Given the description of an element on the screen output the (x, y) to click on. 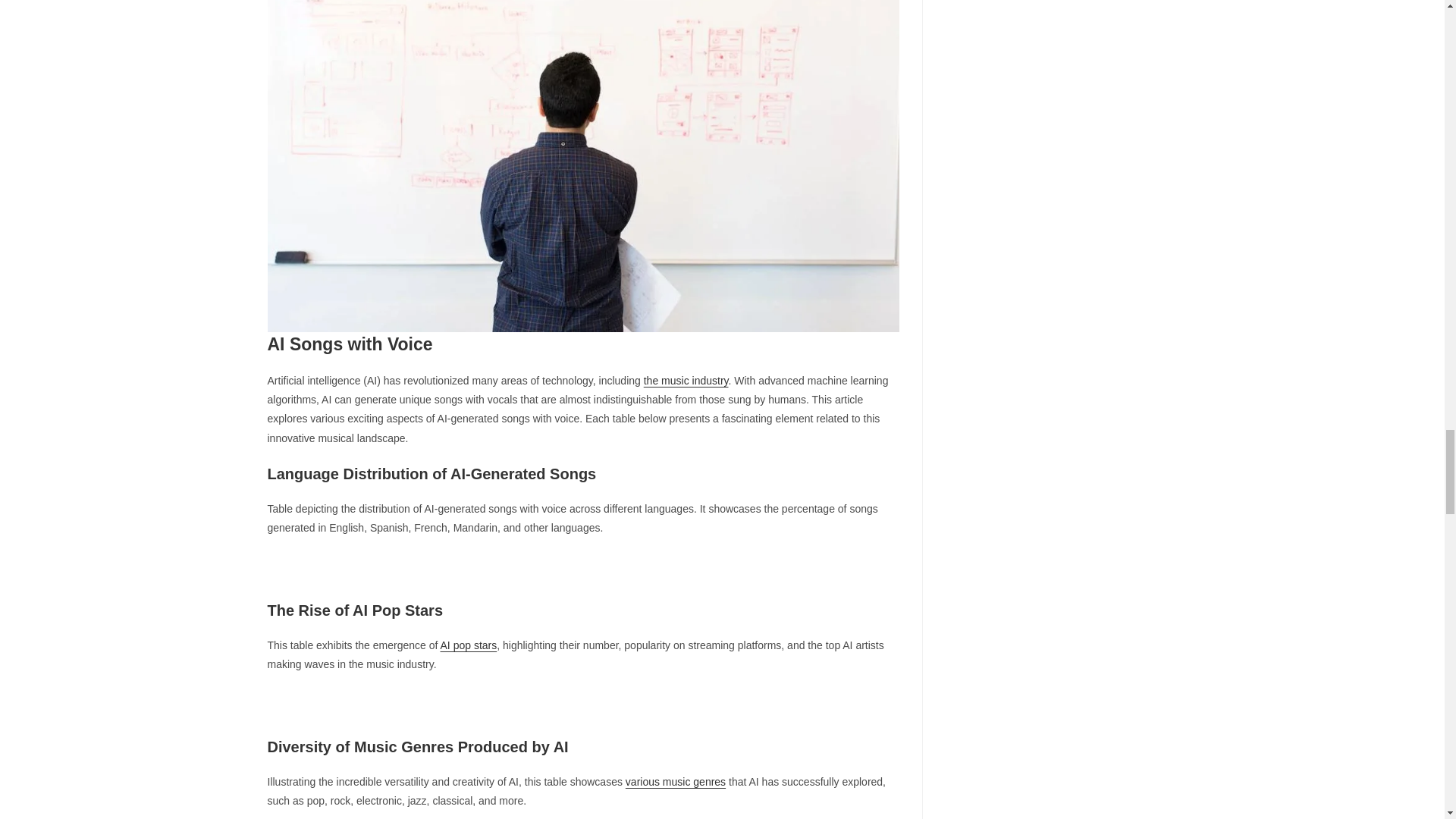
various music genres (675, 781)
AI pop stars (469, 645)
the music industry (686, 380)
